Given the description of an element on the screen output the (x, y) to click on. 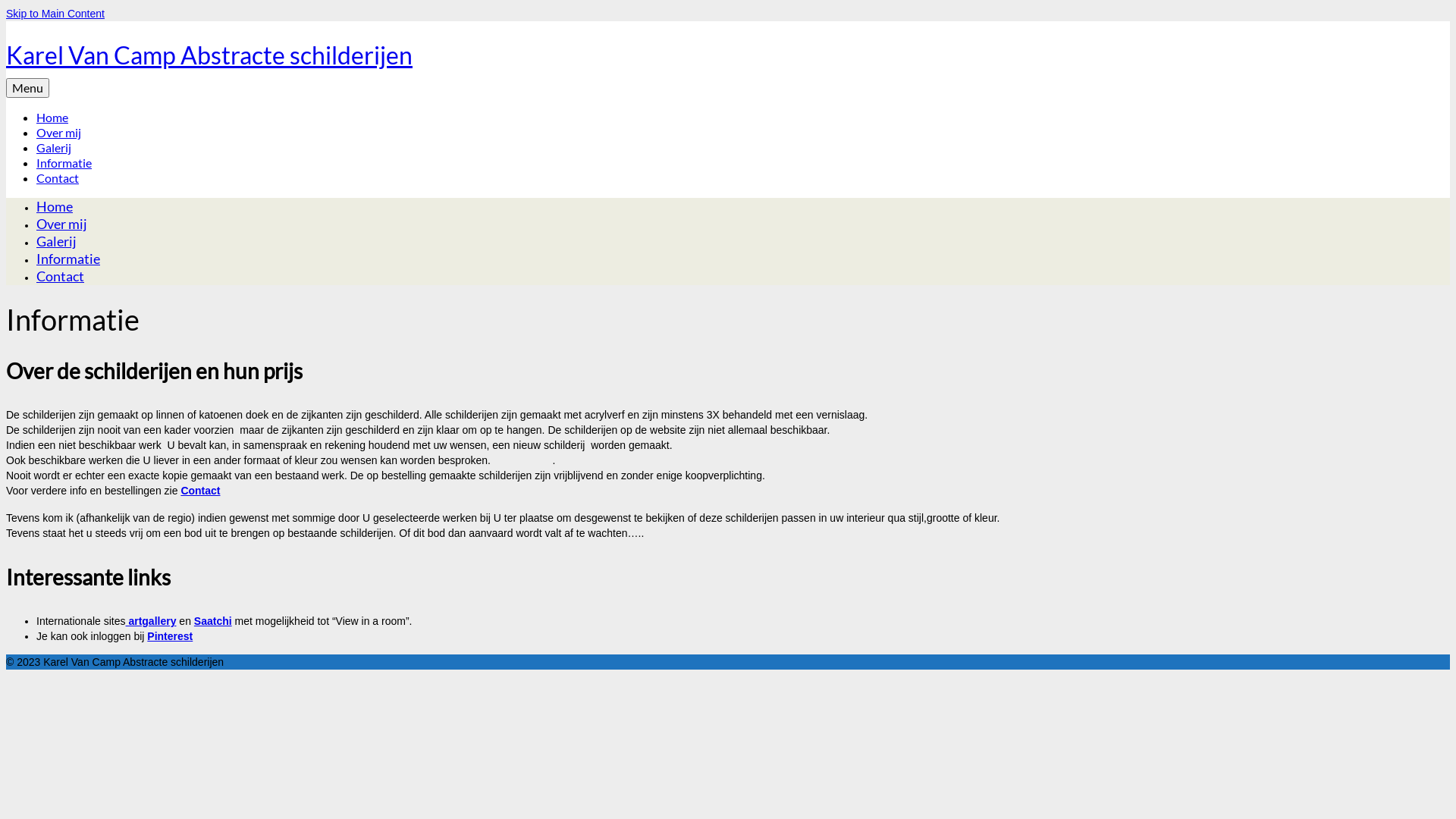
Karel Van Camp Abstracte schilderijen Element type: text (209, 54)
Contact Element type: text (57, 177)
artgallery Element type: text (150, 621)
Galerij Element type: text (56, 240)
Informatie Element type: text (63, 162)
Home Element type: text (52, 116)
Informatie Element type: text (68, 258)
Galerij Element type: text (53, 147)
Menu Element type: text (27, 87)
Home Element type: text (54, 205)
Over mij Element type: text (61, 223)
Skip to Main Content Element type: text (55, 13)
Saatchi Element type: text (213, 621)
Over mij Element type: text (58, 132)
Contact Element type: text (199, 490)
Pinterest Element type: text (169, 636)
Contact Element type: text (60, 275)
